Given the description of an element on the screen output the (x, y) to click on. 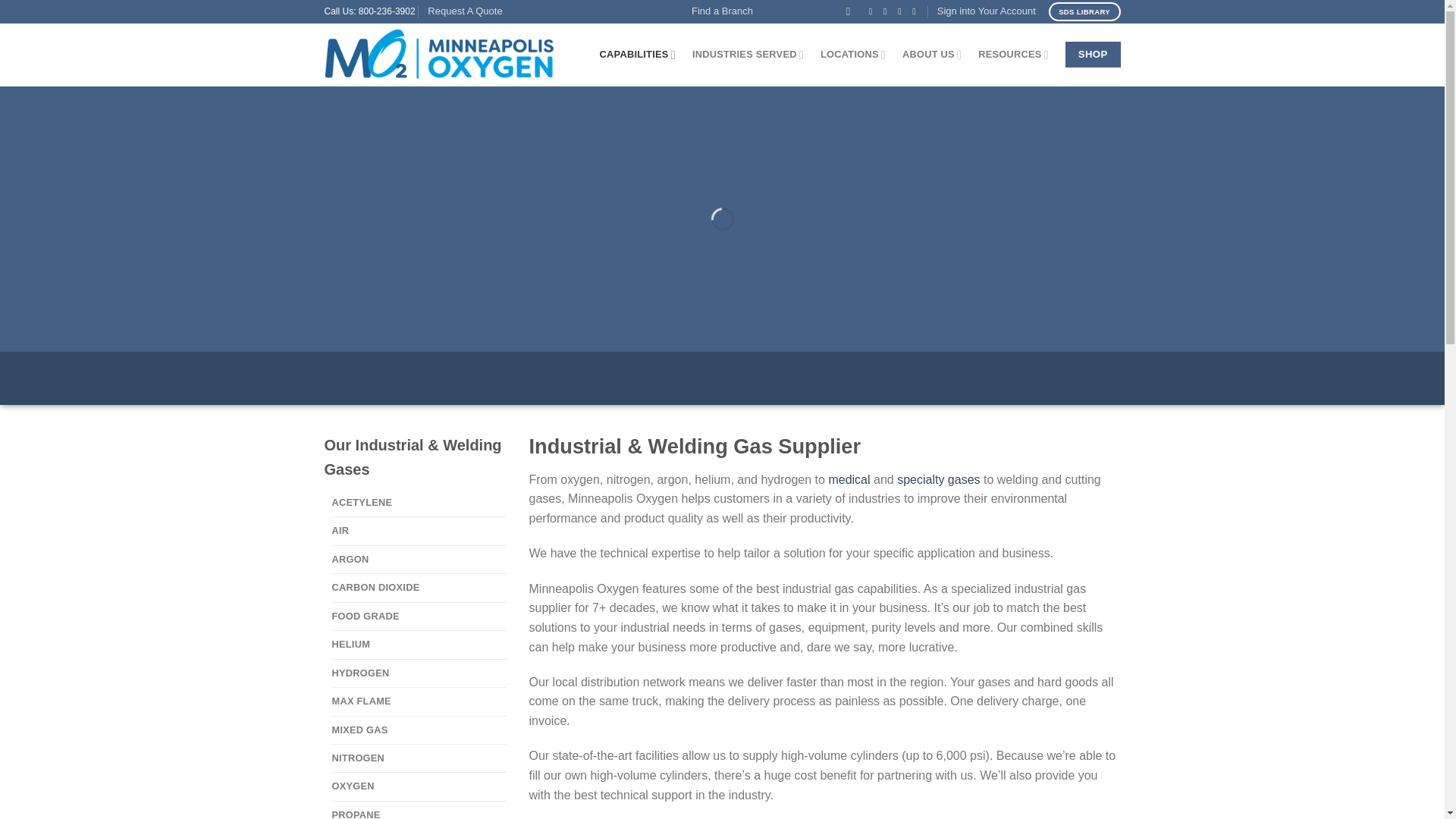
Find a Branch (721, 11)
Sign into Your Account (986, 11)
SDS LIBRARY (1084, 11)
CAPABILITIES (637, 54)
Request A Quote (465, 11)
